Given the description of an element on the screen output the (x, y) to click on. 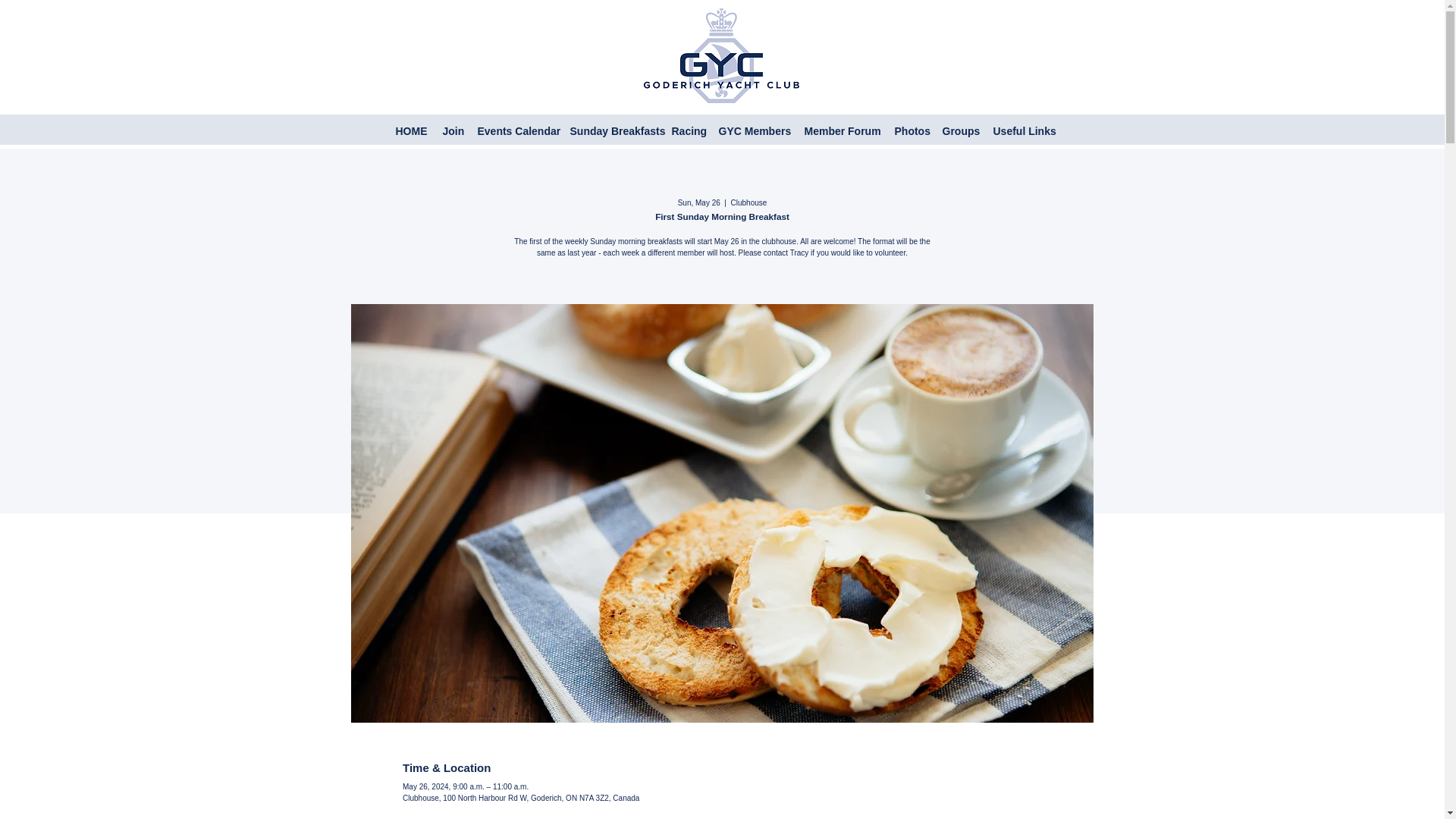
GYC Members (753, 130)
Events Calendar (516, 130)
HOME (411, 130)
Member Forum (841, 130)
Sunday Breakfasts (612, 130)
Useful Links (1021, 130)
Groups (959, 130)
Join (452, 130)
Log In (1345, 129)
Racing (687, 130)
